Given the description of an element on the screen output the (x, y) to click on. 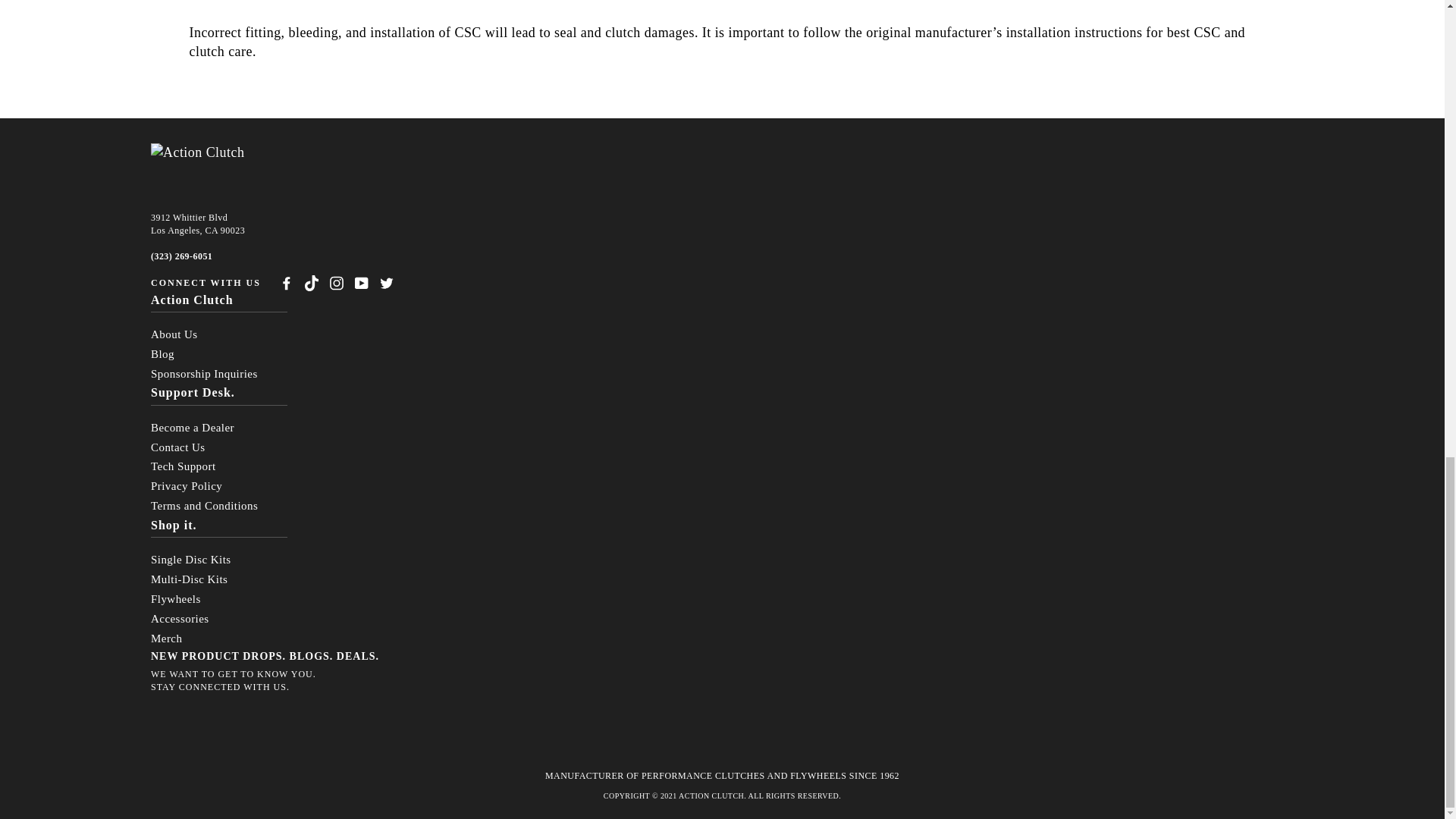
Action Clutch on Instagram (336, 282)
Action Clutch on Twitter (386, 282)
Action Clutch on Facebook (286, 282)
Action Clutch on TikTok (311, 282)
Action Clutch on YouTube (361, 282)
